Given the description of an element on the screen output the (x, y) to click on. 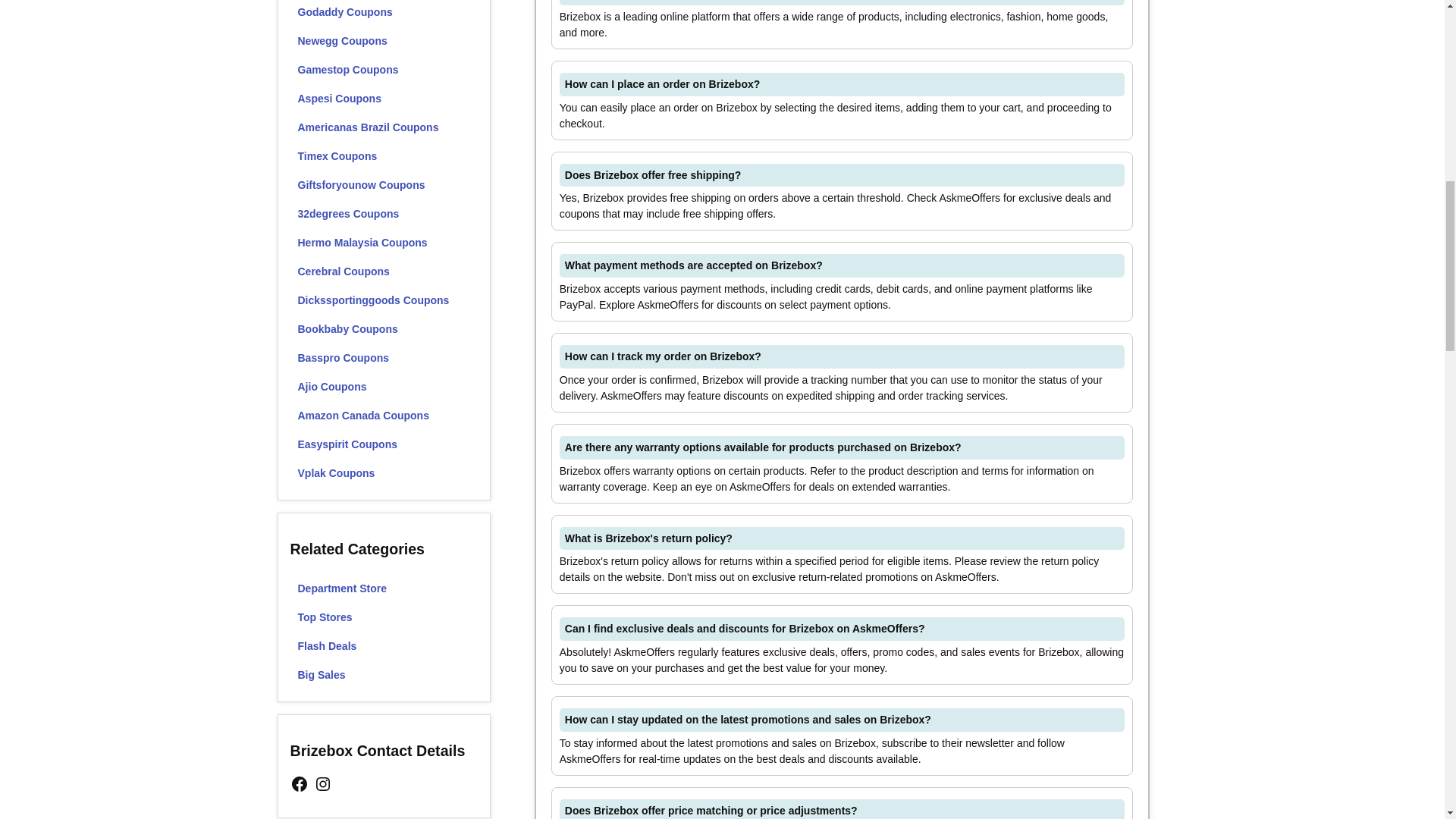
Godaddy Coupons (383, 13)
